Given the description of an element on the screen output the (x, y) to click on. 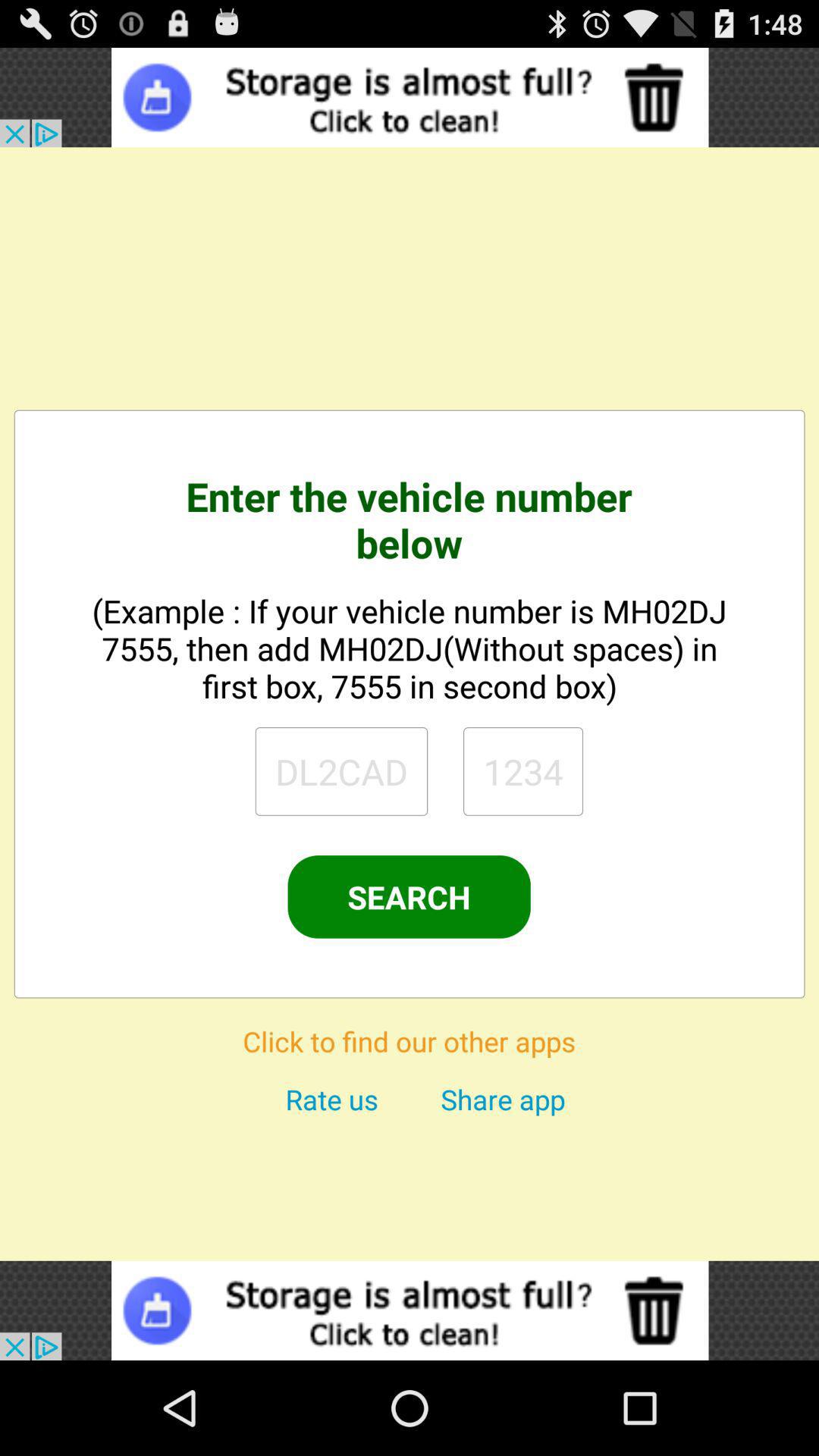
advertisement page (409, 1310)
